Given the description of an element on the screen output the (x, y) to click on. 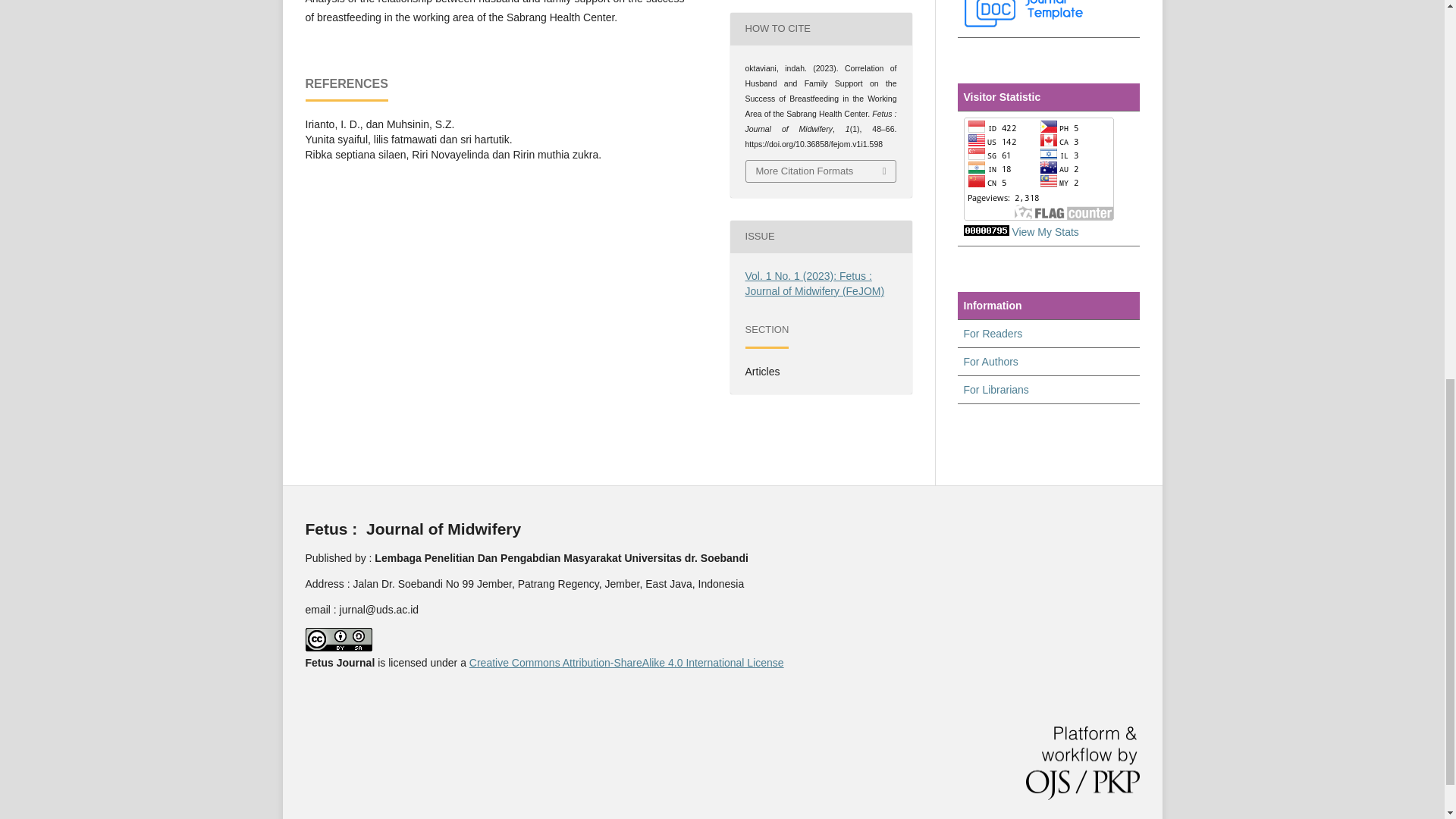
More Citation Formats (820, 170)
Web Analytics Made Easy - Statcounter (985, 232)
